Given the description of an element on the screen output the (x, y) to click on. 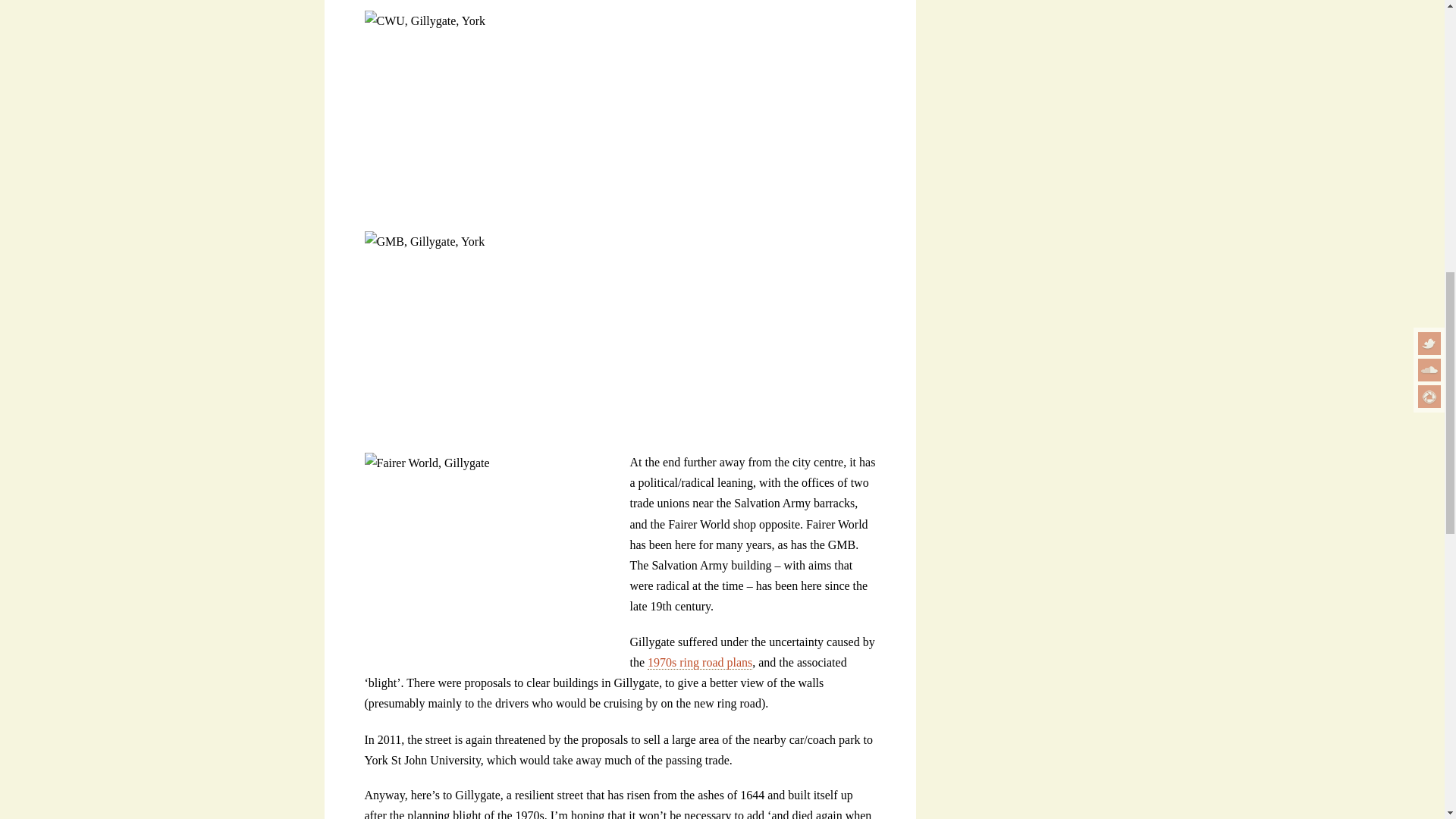
1970s ring road plans (699, 662)
